Given the description of an element on the screen output the (x, y) to click on. 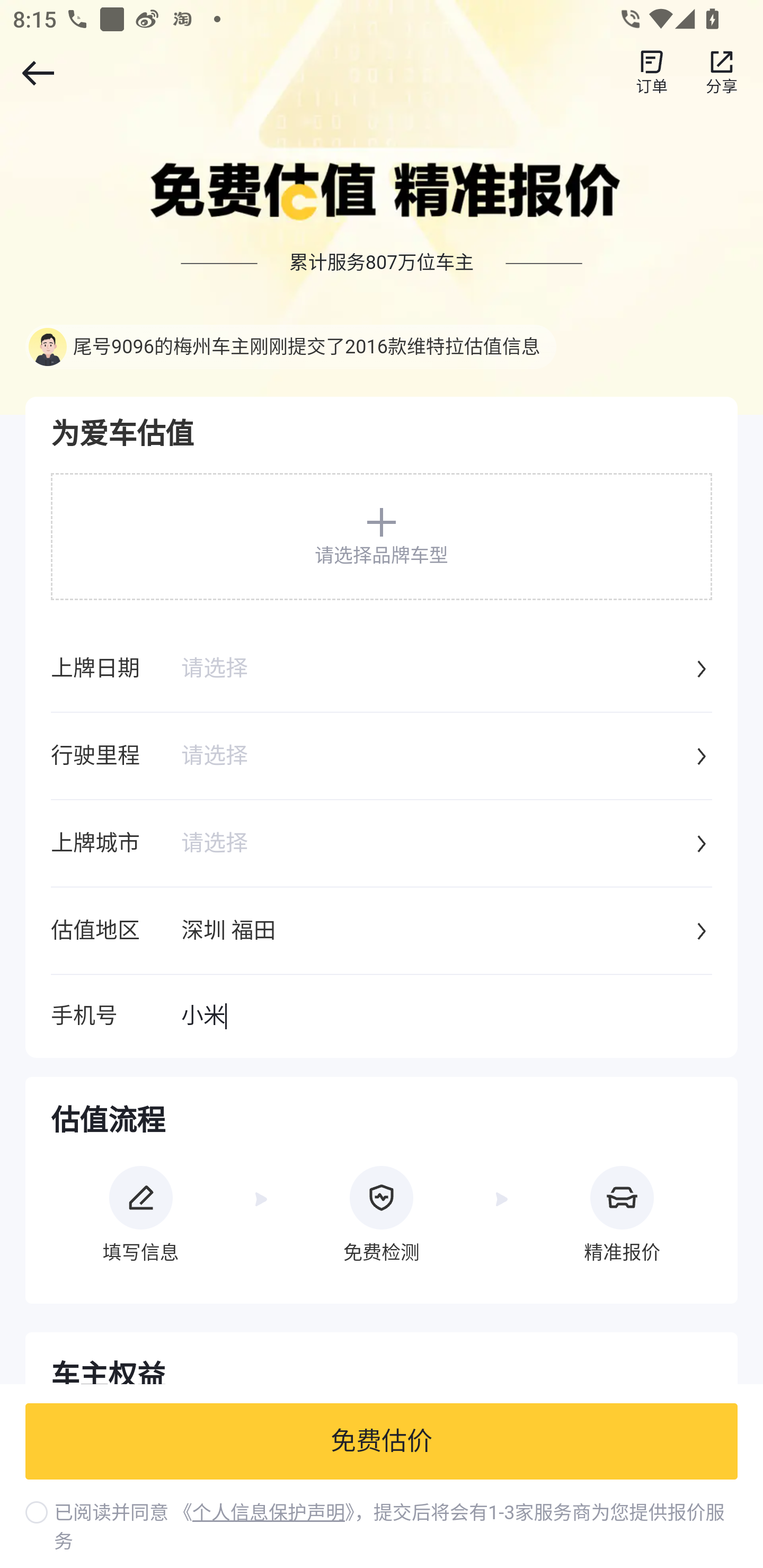
订单 (651, 72)
分享 (721, 72)
请选择品牌车型 (381, 535)
请选择 (435, 669)
请选择 (435, 757)
请选择 (435, 844)
深圳 福田 (435, 932)
小米 (446, 1016)
小米 (446, 1016)
免费估价 (381, 1441)
